Given the description of an element on the screen output the (x, y) to click on. 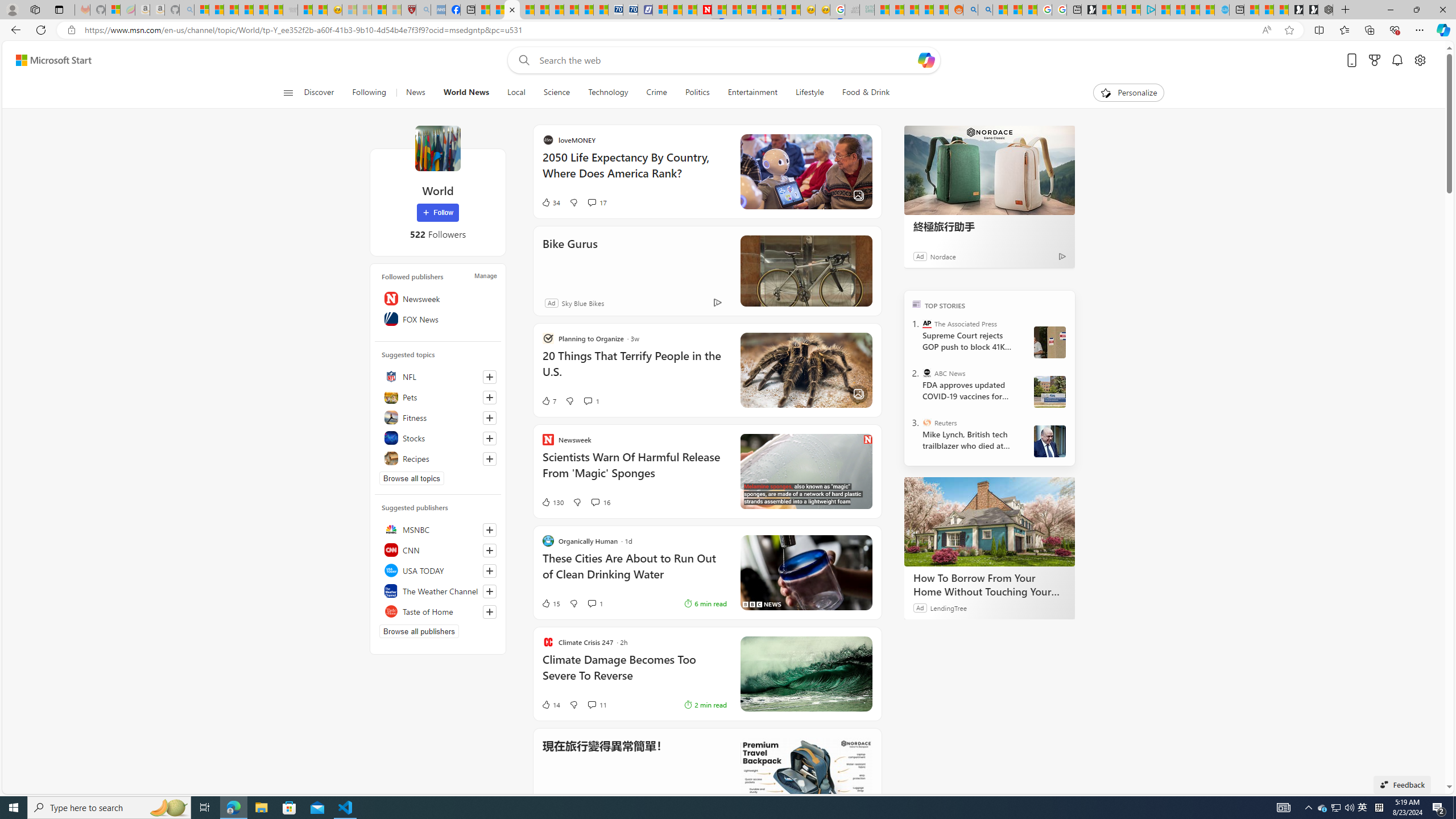
Robert H. Shmerling, MD - Harvard Health (408, 9)
Combat Siege - Sleeping (290, 9)
ABC News (927, 372)
Browse all topics (412, 477)
Reuters (927, 422)
7 Like (547, 400)
